Given the description of an element on the screen output the (x, y) to click on. 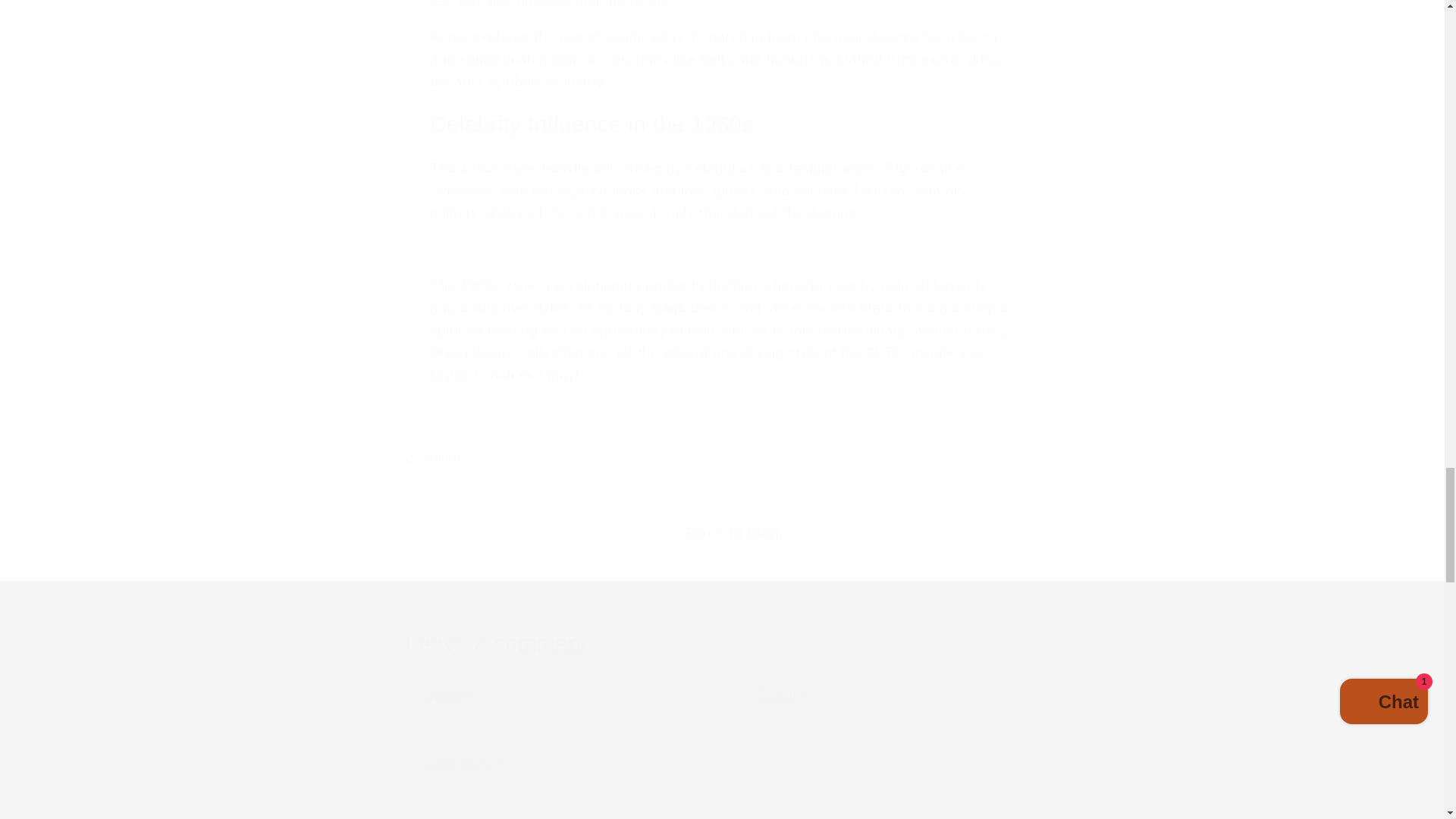
Share (722, 456)
